Given the description of an element on the screen output the (x, y) to click on. 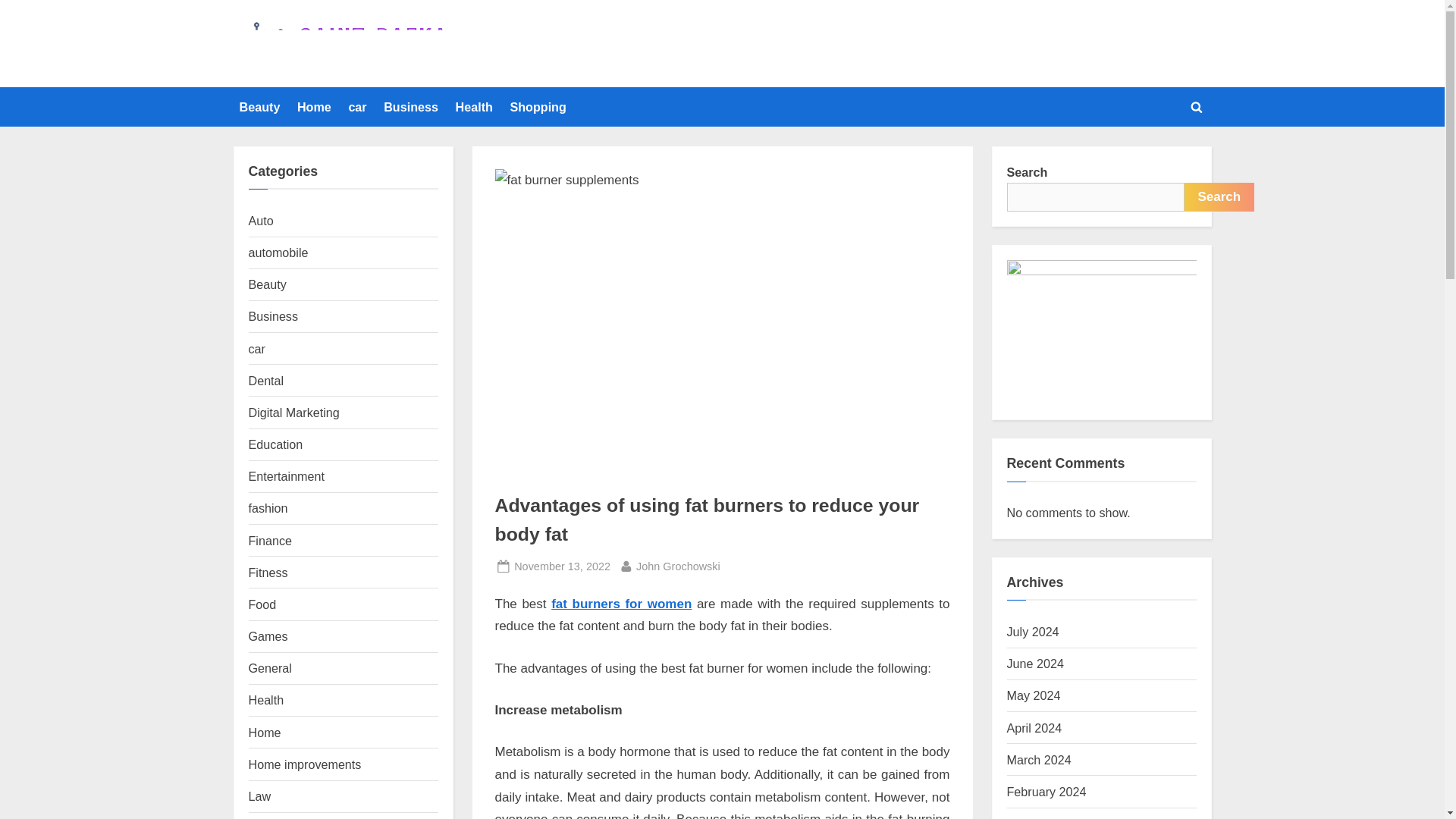
Shopping (537, 106)
Health (472, 106)
Beauty (267, 284)
fat burners for women (678, 566)
General (621, 603)
Business (270, 667)
car (410, 106)
car (256, 348)
